Given the description of an element on the screen output the (x, y) to click on. 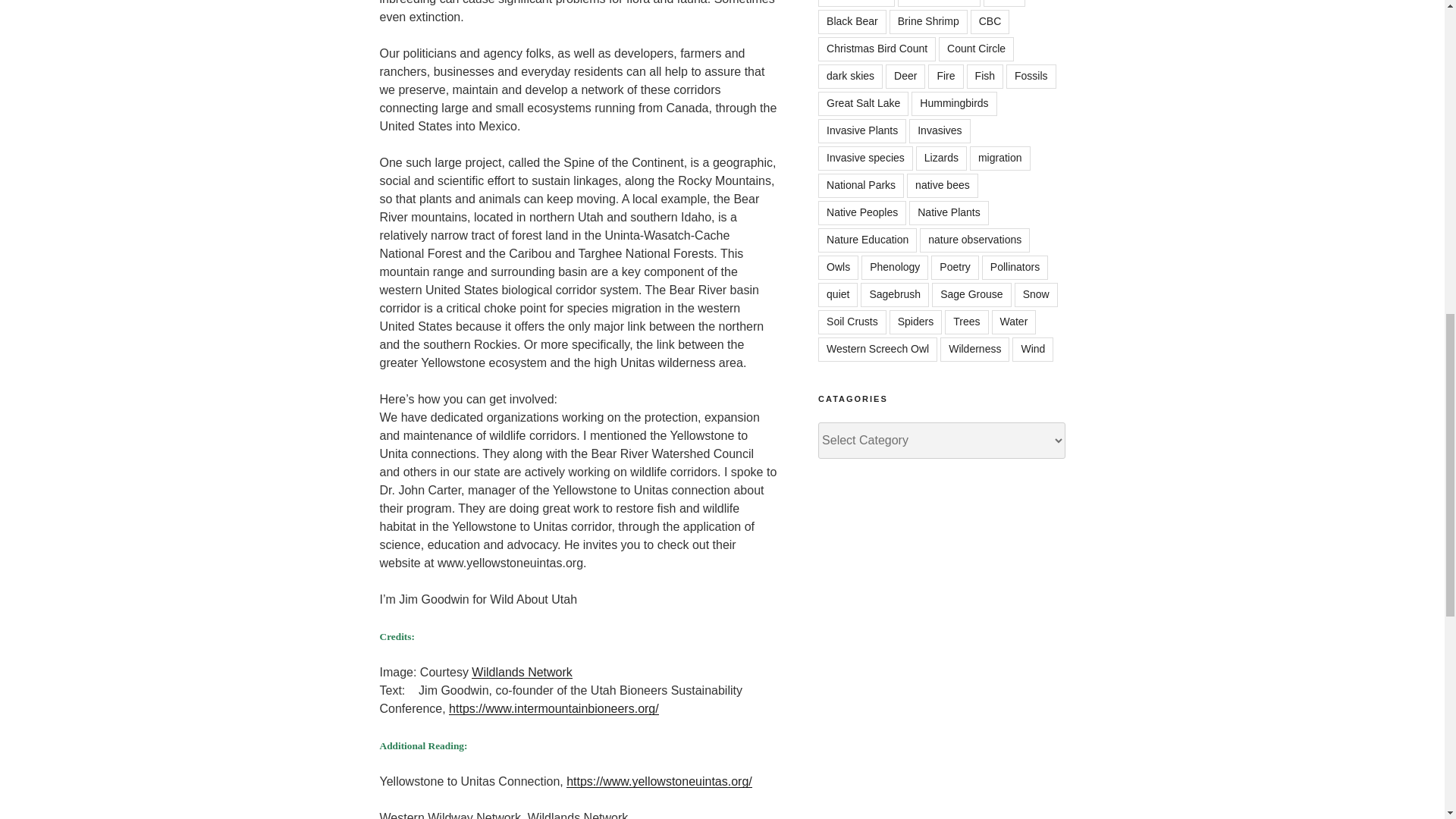
Wildlands Network (521, 671)
